Given the description of an element on the screen output the (x, y) to click on. 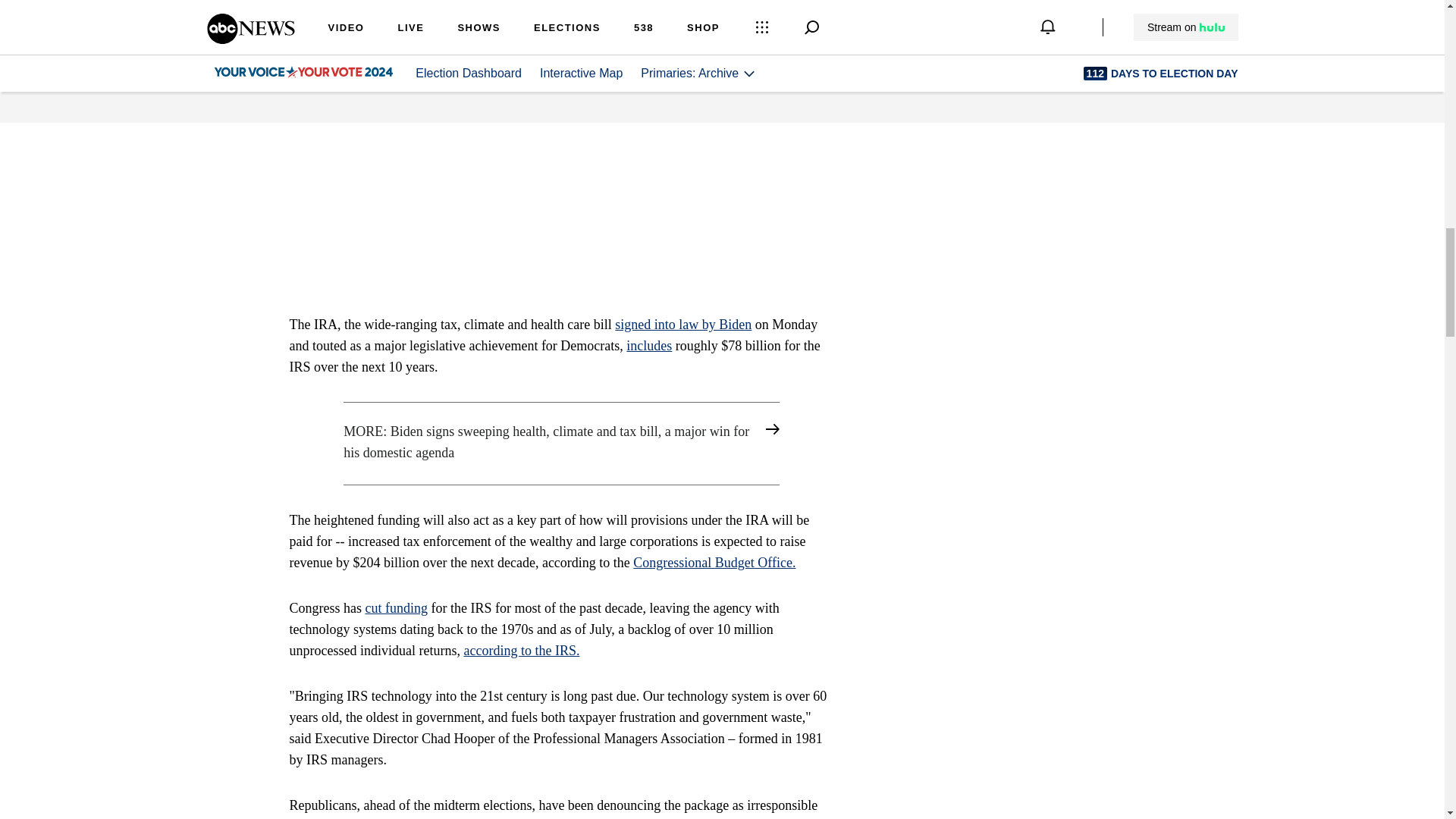
according to the IRS. (521, 650)
Congressional Budget Office. (713, 562)
cut funding (396, 607)
includes (648, 345)
signed into law by Biden (682, 324)
